Given the description of an element on the screen output the (x, y) to click on. 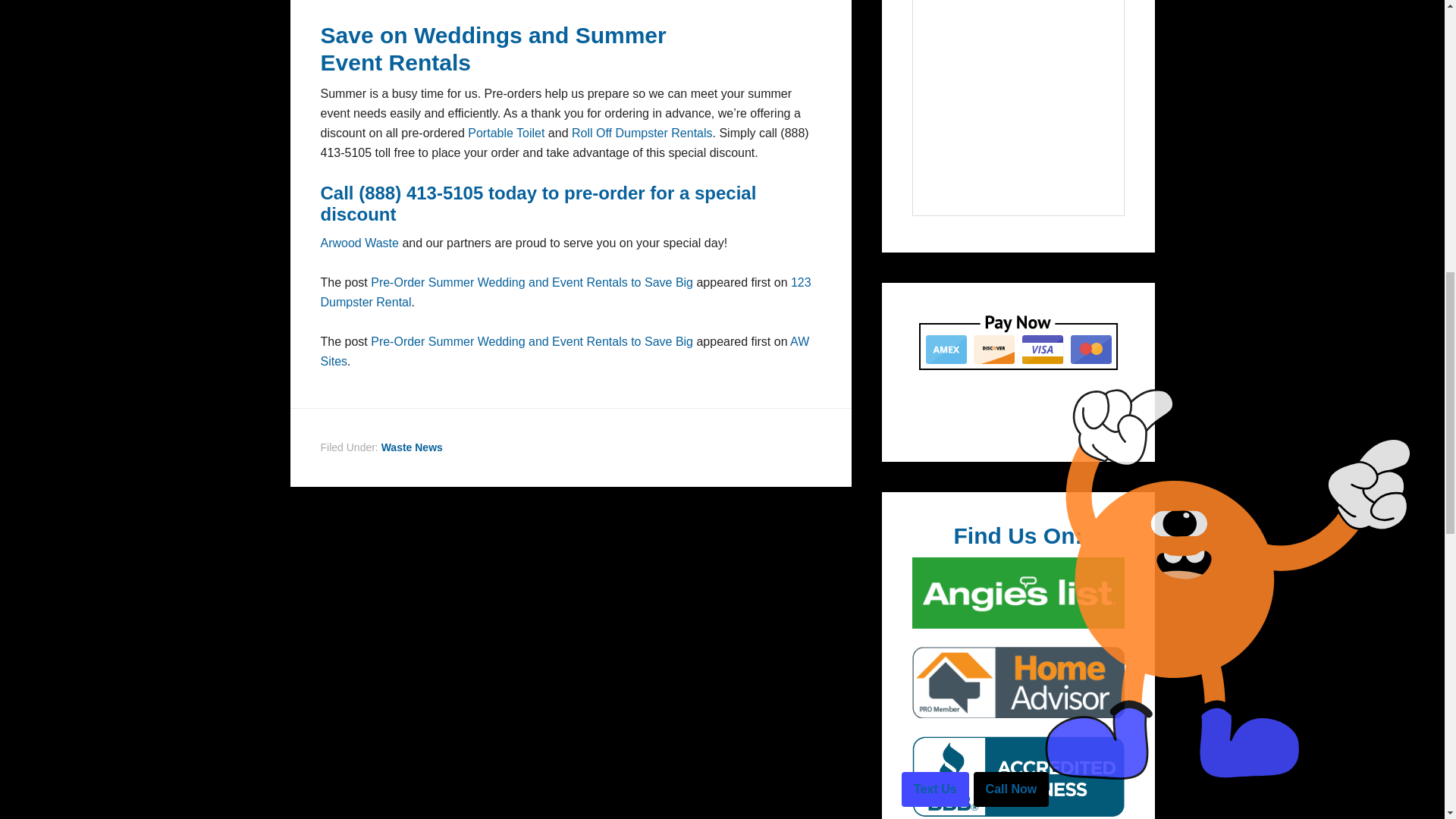
AW Sites (564, 350)
Arwood Waste (358, 242)
Portable Toilet (505, 132)
Pre-Order Summer Wedding and Event Rentals to Save Big (532, 282)
Waste News (411, 447)
Roll Off Dumpster Rentals (642, 132)
Arwood Waste (358, 242)
Pre-Order Summer Wedding and Event Rentals to Save Big (532, 341)
123 Dumpster Rental (565, 292)
